Given the description of an element on the screen output the (x, y) to click on. 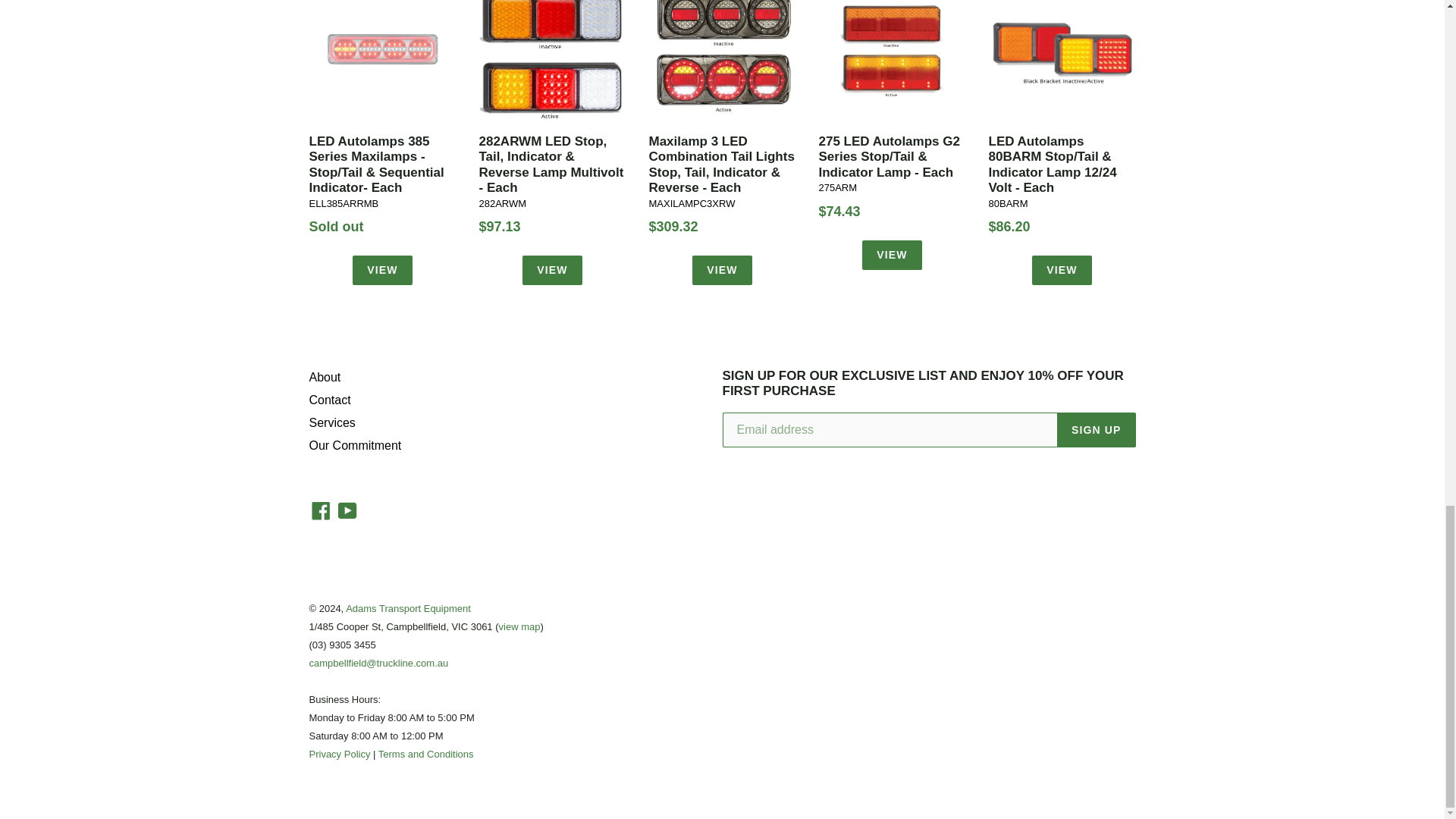
View (551, 270)
View (1061, 270)
This online store is secured by Shopify (759, 562)
View (382, 270)
View (891, 255)
View (722, 270)
